Given the description of an element on the screen output the (x, y) to click on. 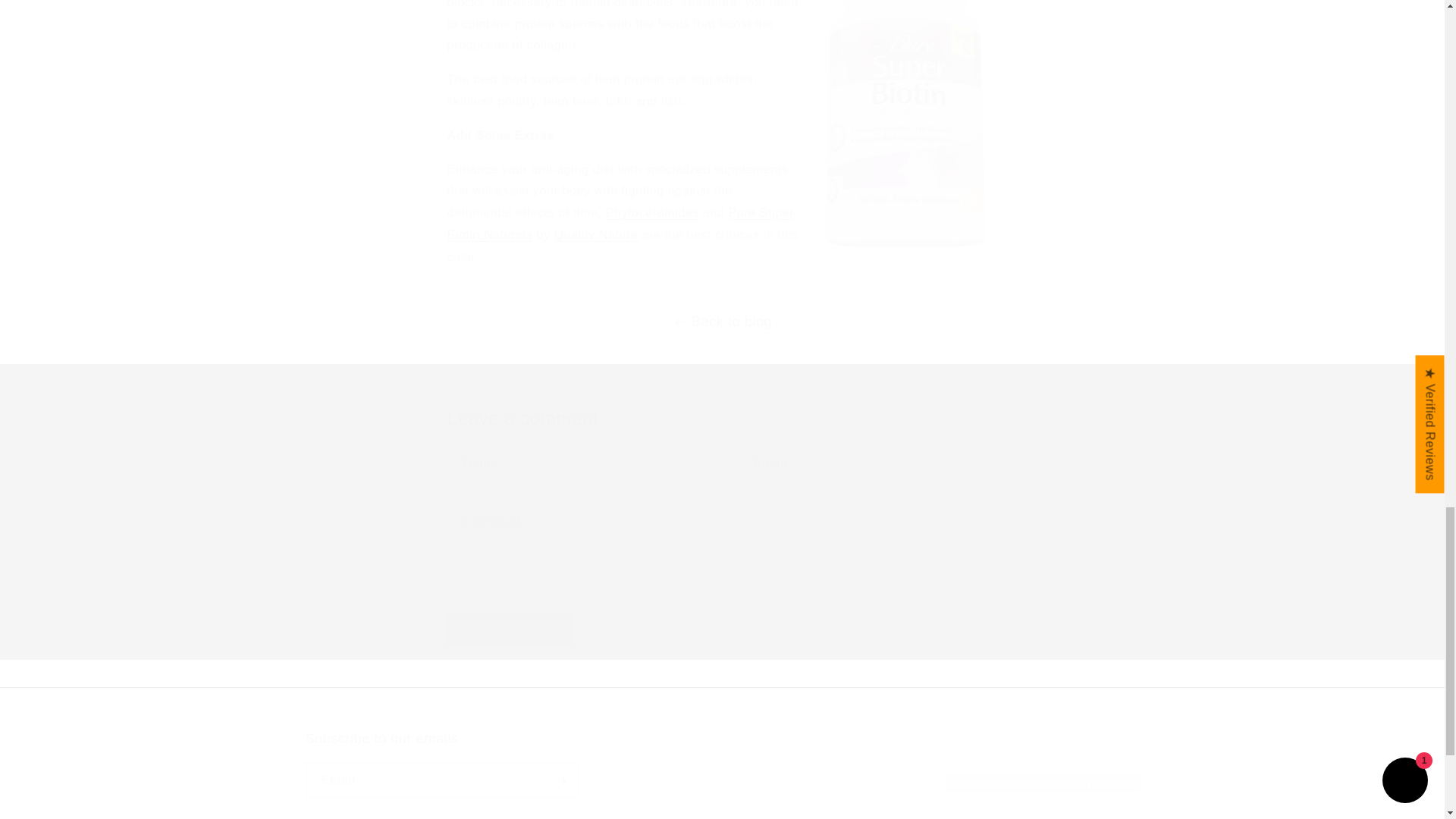
Quality Nature (596, 234)
Pure Super Biotin Naturals (620, 223)
Post comment (510, 629)
Post comment (510, 629)
Phytoceramides (721, 764)
